Given the description of an element on the screen output the (x, y) to click on. 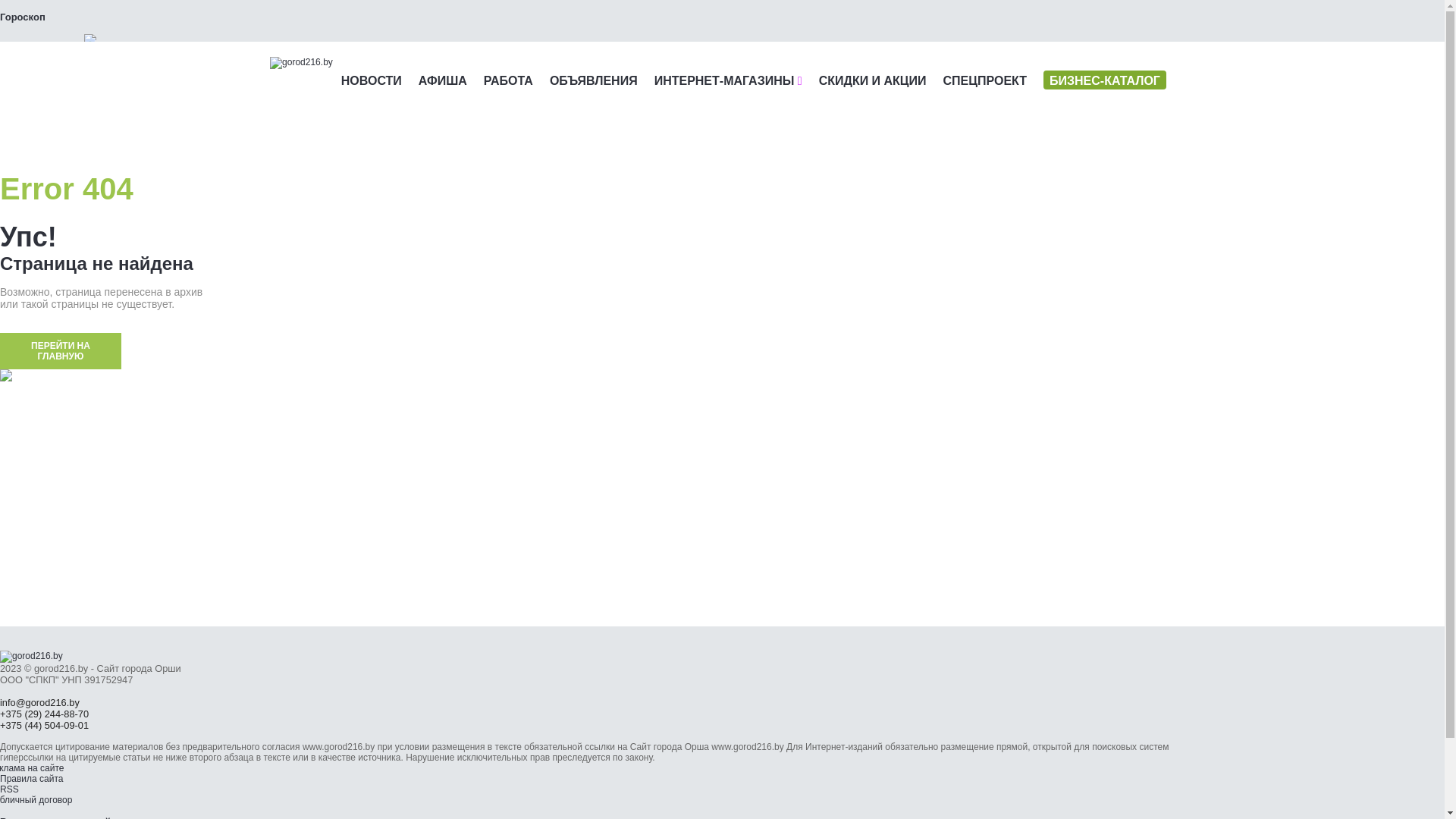
   Element type: text (85, 50)
RSS Element type: text (9, 789)
